Given the description of an element on the screen output the (x, y) to click on. 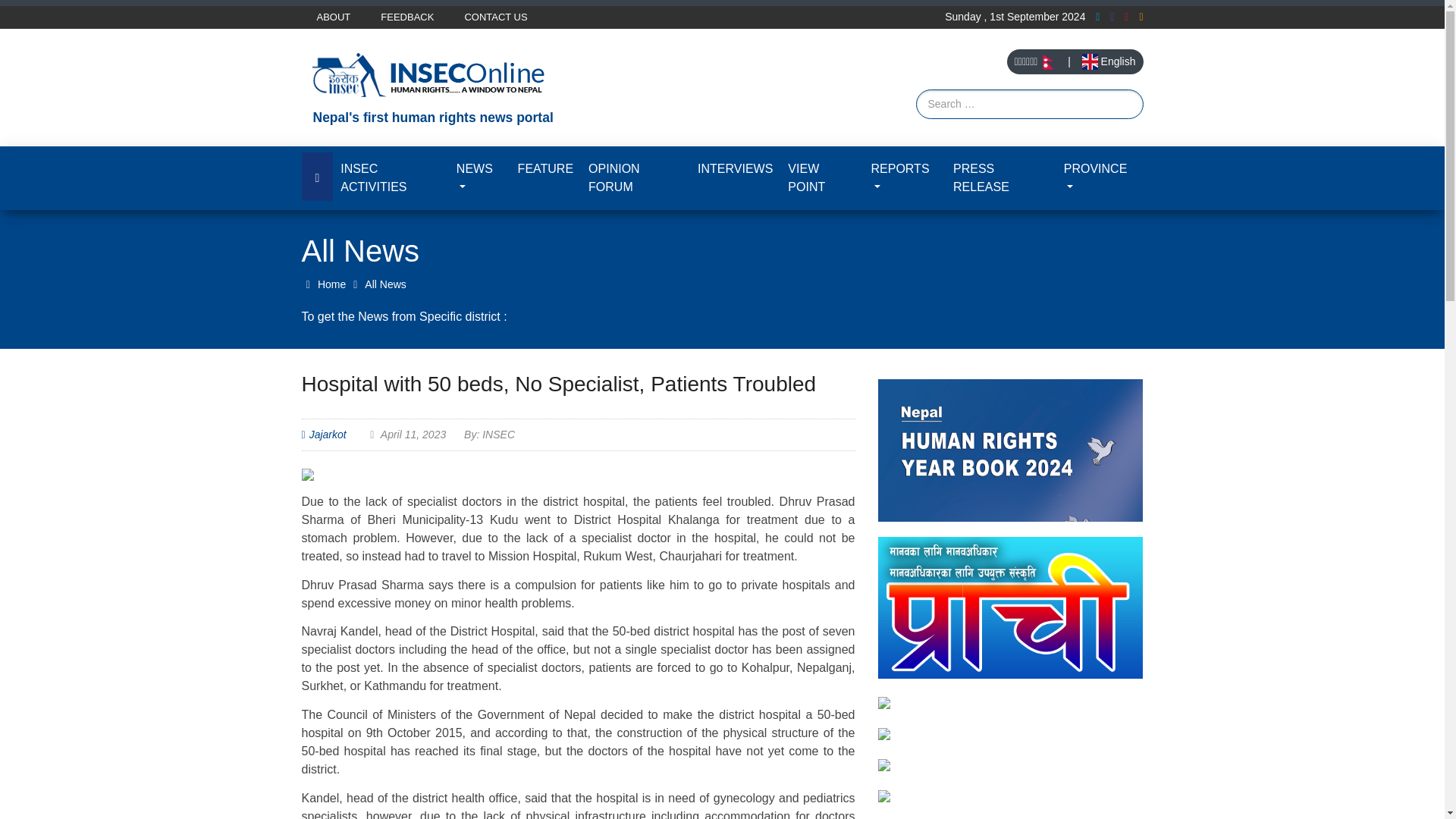
INSEC ACTIVITIES (390, 177)
NEWS (479, 177)
Interviews (735, 168)
Jajarkot (327, 434)
Insec Activities (390, 177)
ABOUT (333, 16)
OPINION FORUM (635, 177)
News (479, 177)
Reports (903, 177)
